Given the description of an element on the screen output the (x, y) to click on. 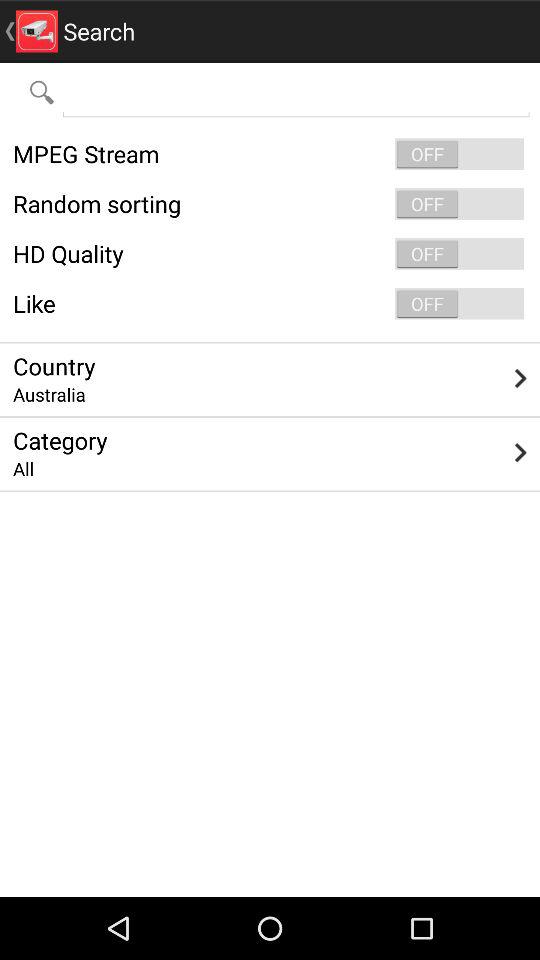
tap item above the hd quality (269, 203)
